Given the description of an element on the screen output the (x, y) to click on. 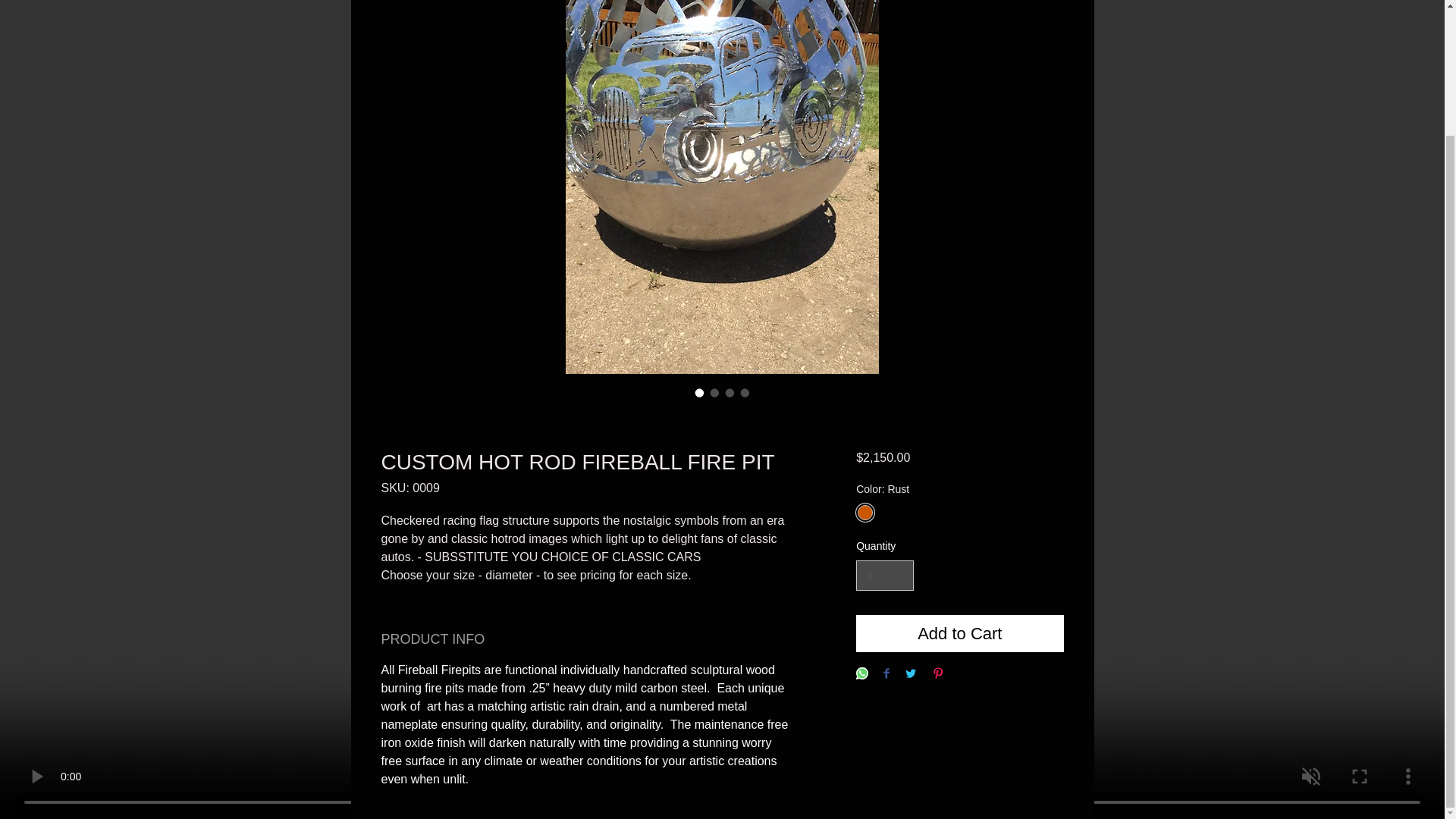
1 (885, 575)
Add to Cart (959, 633)
